Given the description of an element on the screen output the (x, y) to click on. 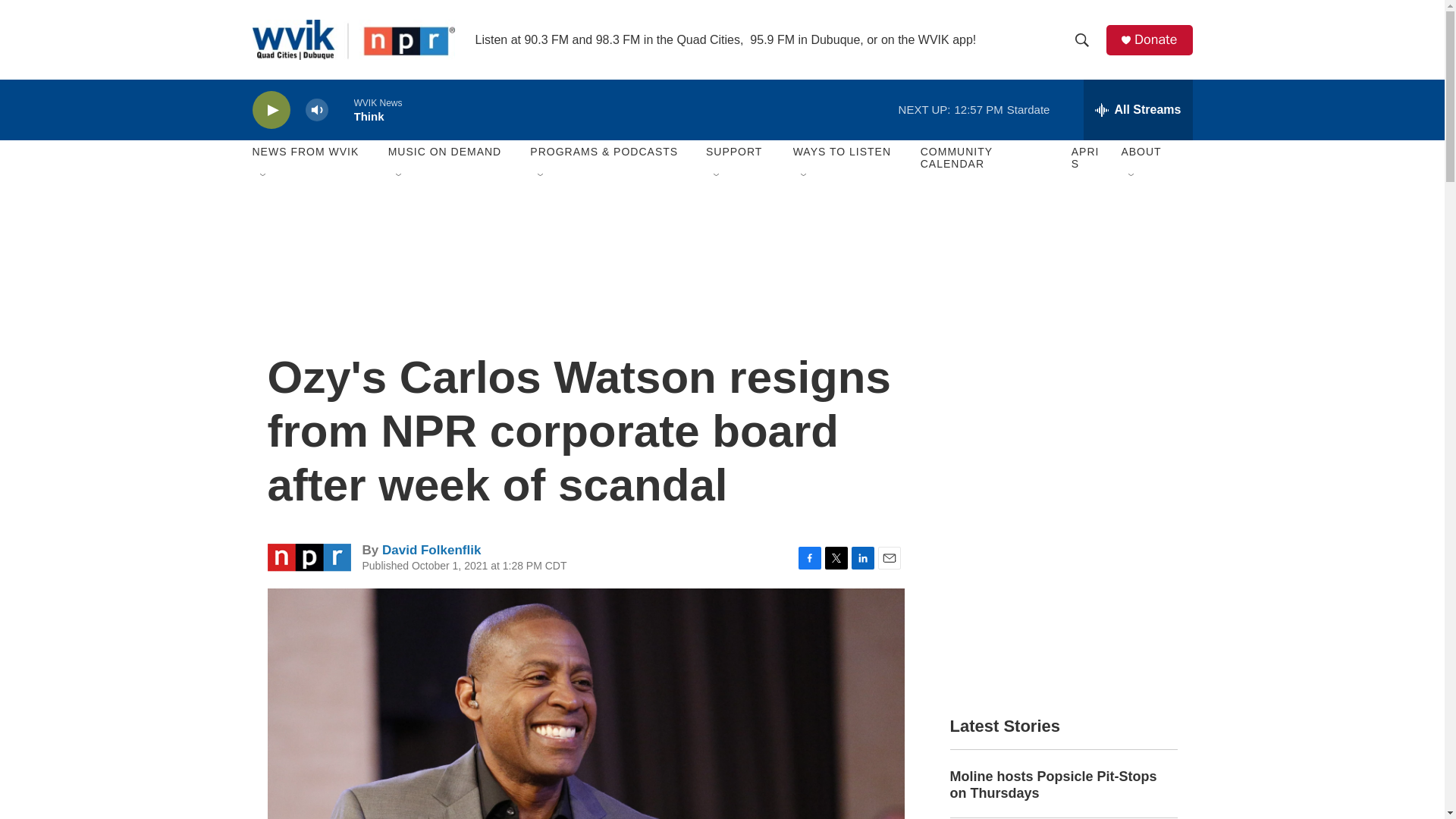
3rd party ad content (721, 225)
